Given the description of an element on the screen output the (x, y) to click on. 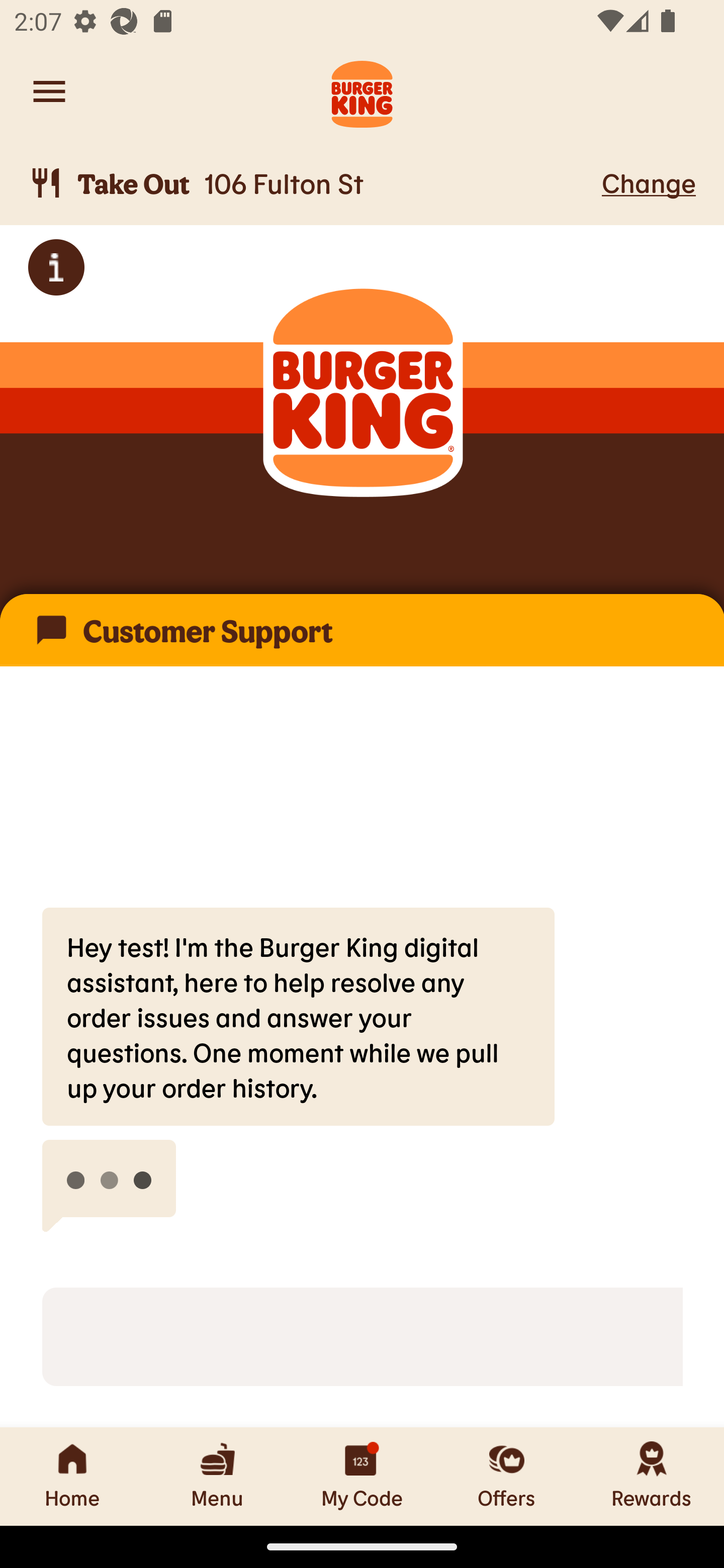
Burger King Logo. Navigate to Home (362, 91)
Navigate to account menu  (49, 91)
Take Out, 106 Fulton St  Take Out 106 Fulton St (311, 183)
Change (648, 182)
Home (72, 1475)
Menu (216, 1475)
My Code (361, 1475)
Offers (506, 1475)
Rewards (651, 1475)
